Given the description of an element on the screen output the (x, y) to click on. 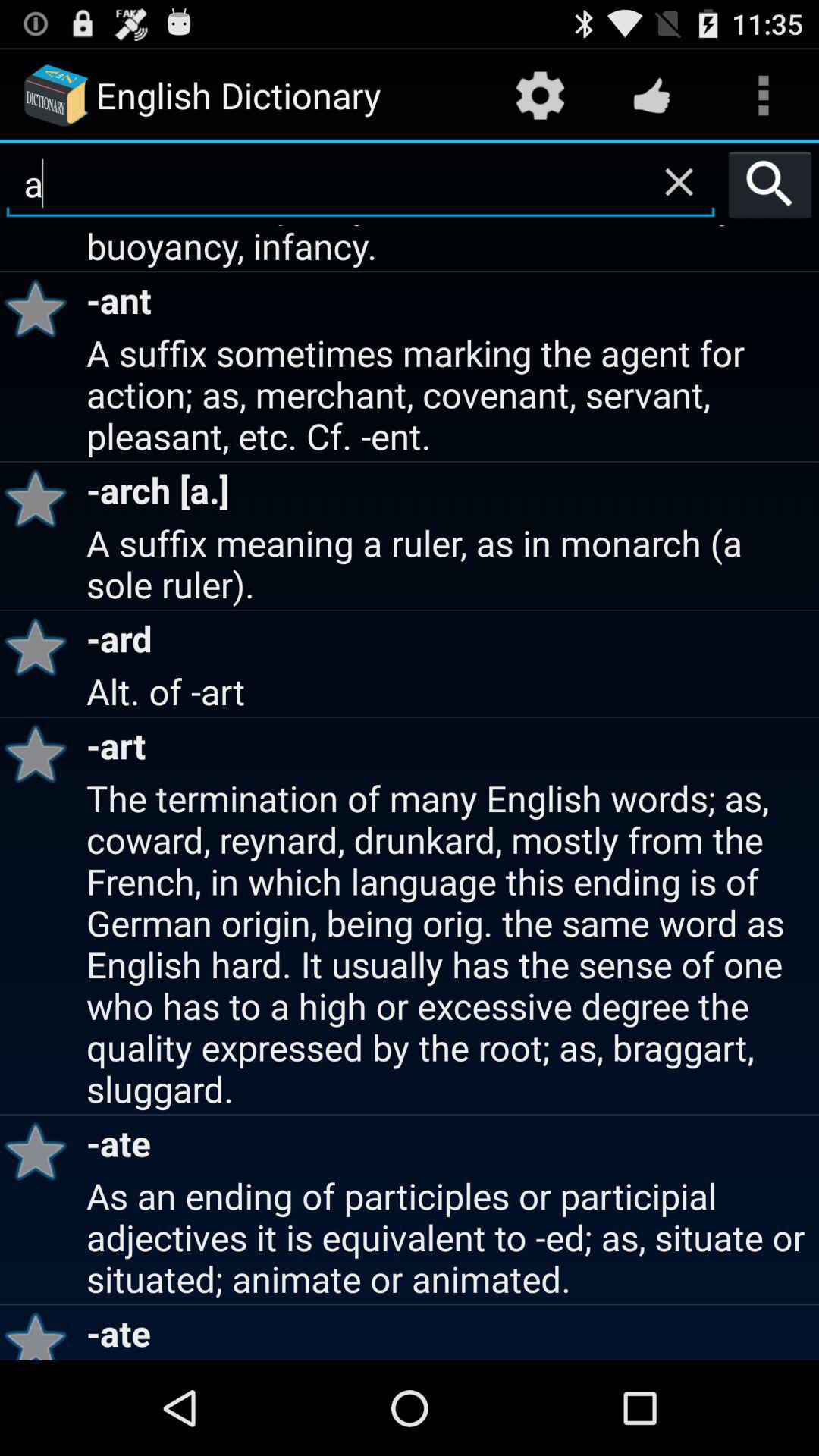
tap the app below a suffix expressing (41, 308)
